Given the description of an element on the screen output the (x, y) to click on. 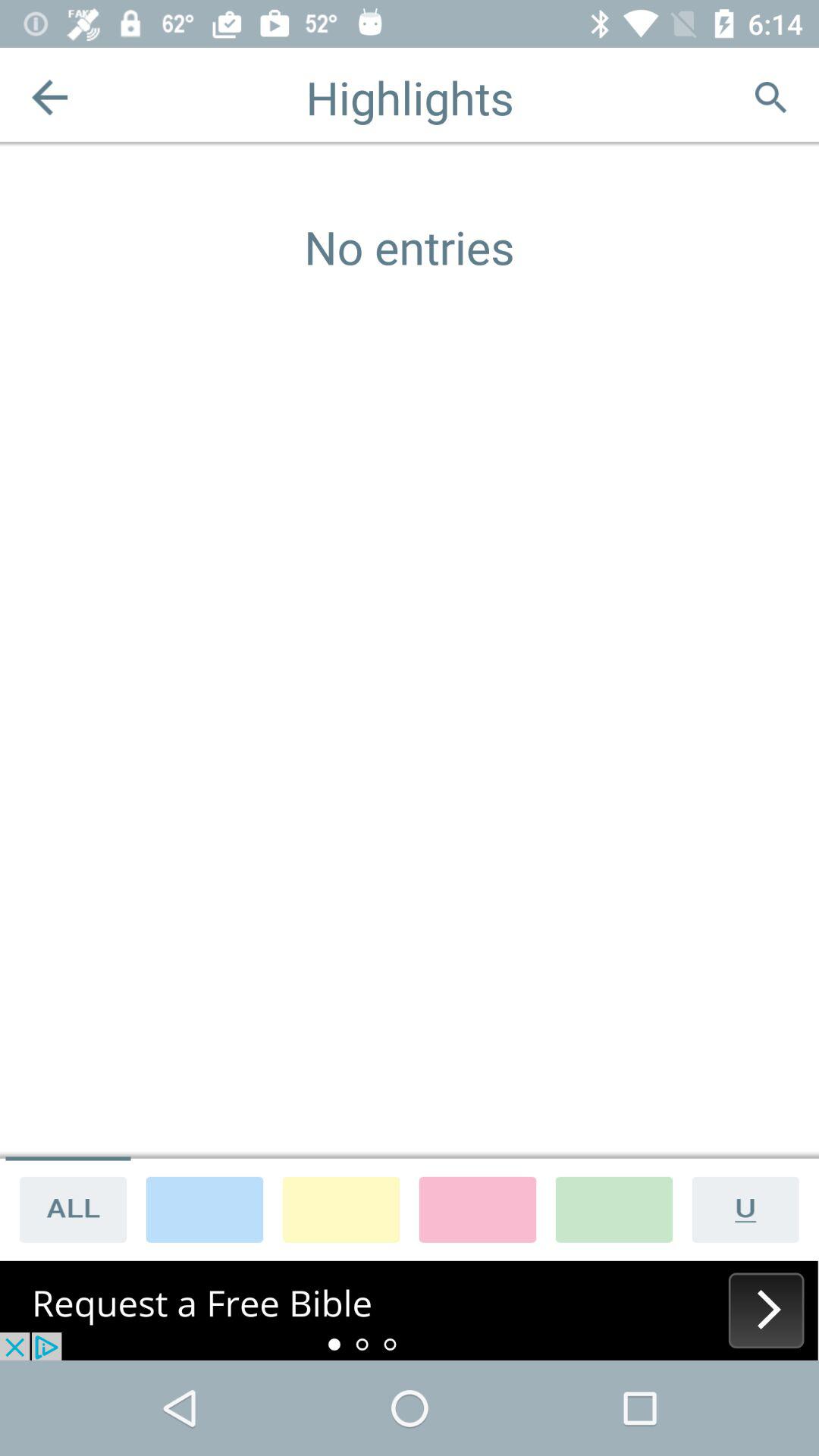
click to search option (770, 97)
